Given the description of an element on the screen output the (x, y) to click on. 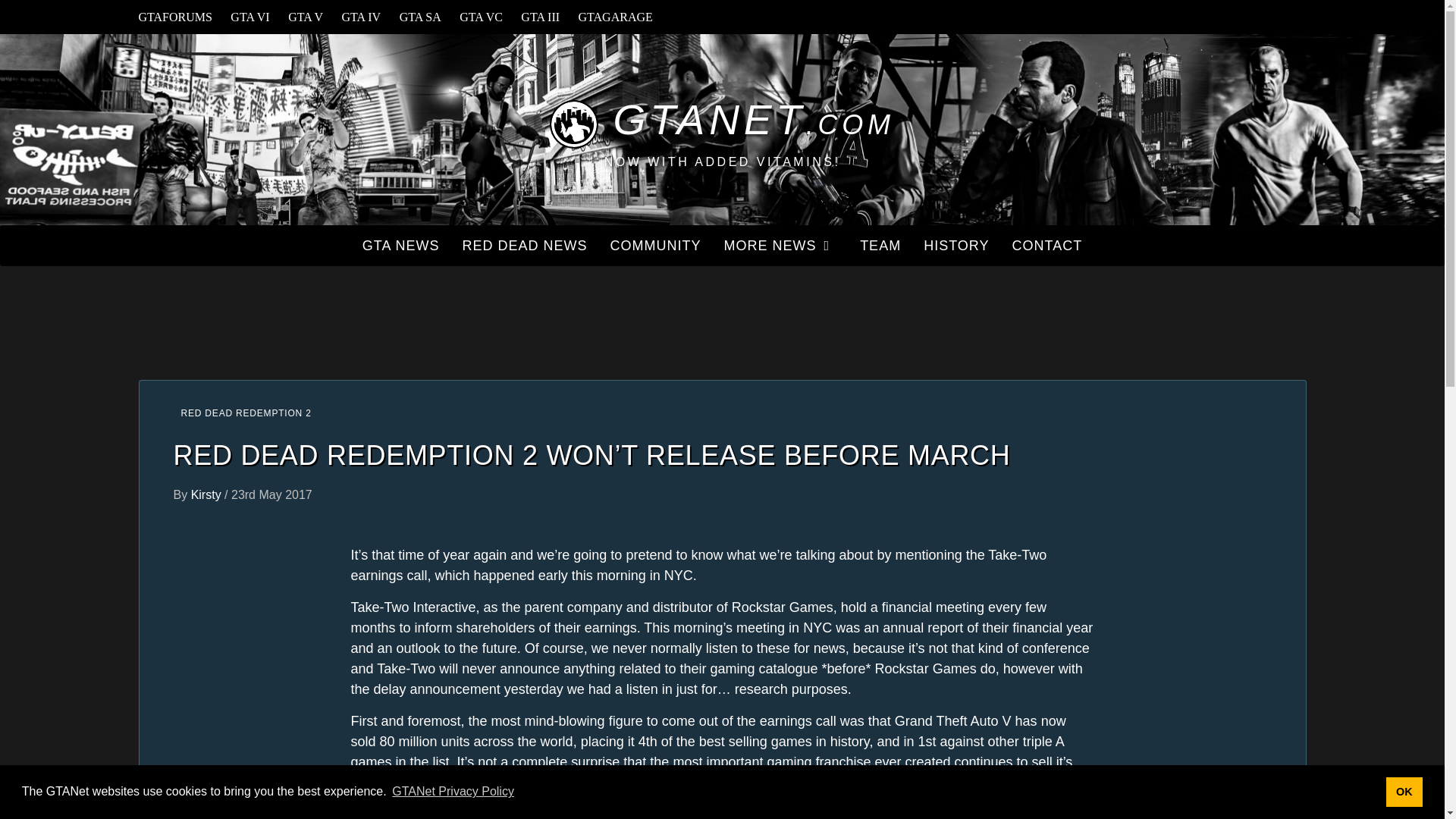
GTA III (540, 17)
GTANet Privacy Policy (453, 791)
RED DEAD NEWS (524, 245)
Kirsty (207, 494)
GTANET.COM (722, 121)
TEAM (880, 245)
HISTORY (956, 245)
GTA IV (361, 17)
CONTACT (1047, 245)
GTA V (305, 17)
GTANet.com - GTAForums, Latest Rockstar News (722, 121)
GTA VC (481, 17)
MORE NEWS (780, 245)
GTAGARAGE (615, 17)
GTA NEWS (400, 245)
